Given the description of an element on the screen output the (x, y) to click on. 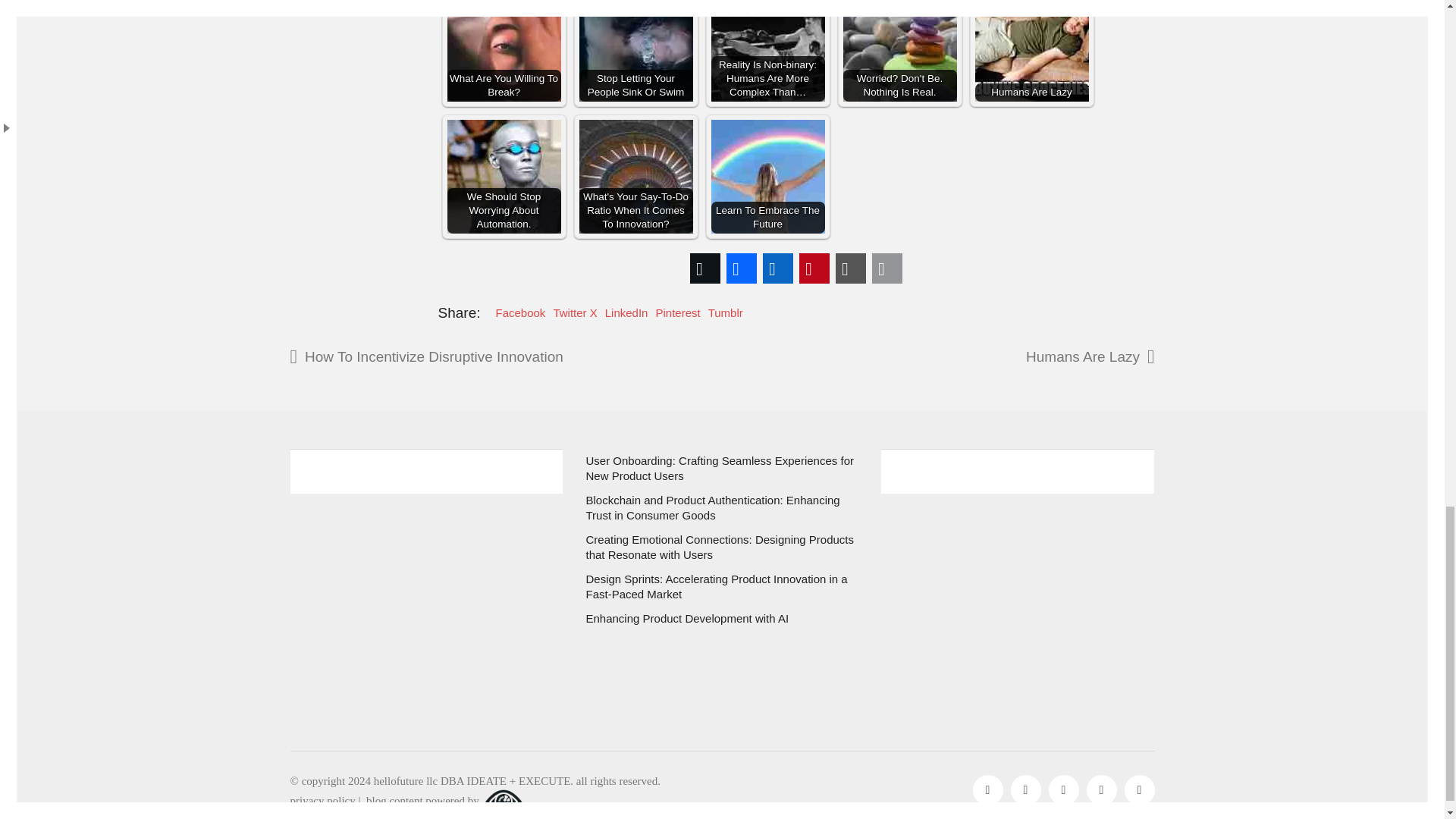
Facebook (741, 268)
Copy Link (850, 268)
Stop Letting Your People Sink Or Swim (636, 50)
Email This (887, 268)
Form 0 (425, 593)
What's Your Say-To-Do Ratio When It Comes To Innovation? (636, 176)
Humans Are Lazy (1032, 50)
What Are You Willing To Break? (503, 50)
We Should Stop Worrying About Automation. (503, 176)
Pinterest (814, 268)
LinkedIn (778, 268)
Learn To Embrace The Future (768, 176)
Worried? Don't Be. Nothing Is Real. (899, 50)
